Given the description of an element on the screen output the (x, y) to click on. 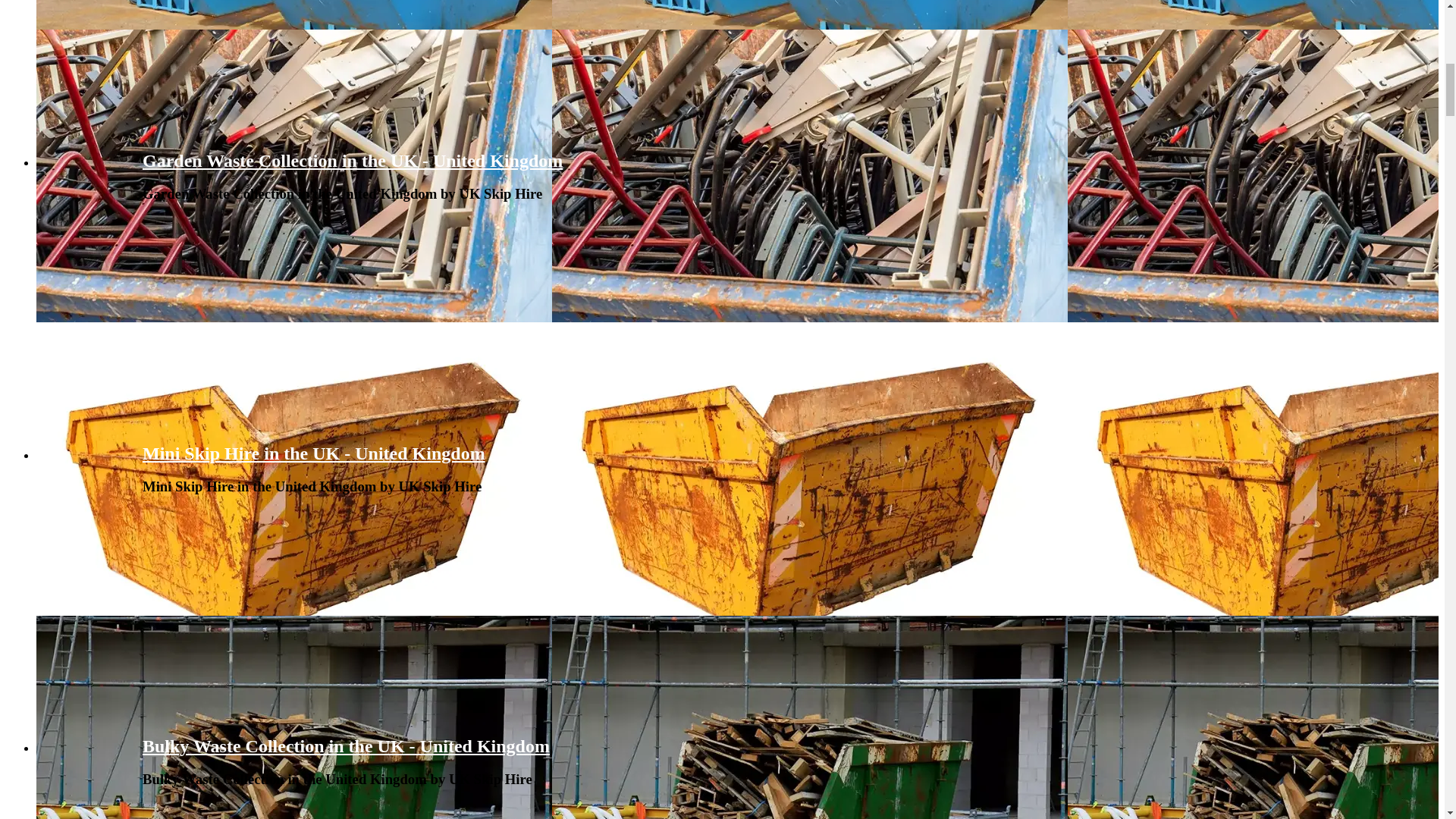
Bulky Waste Collection in the UK - United Kingdom (346, 745)
Garden Waste Collection in the UK - United Kingdom (352, 160)
Mini Skip Hire in the UK - United Kingdom (313, 453)
